Given the description of an element on the screen output the (x, y) to click on. 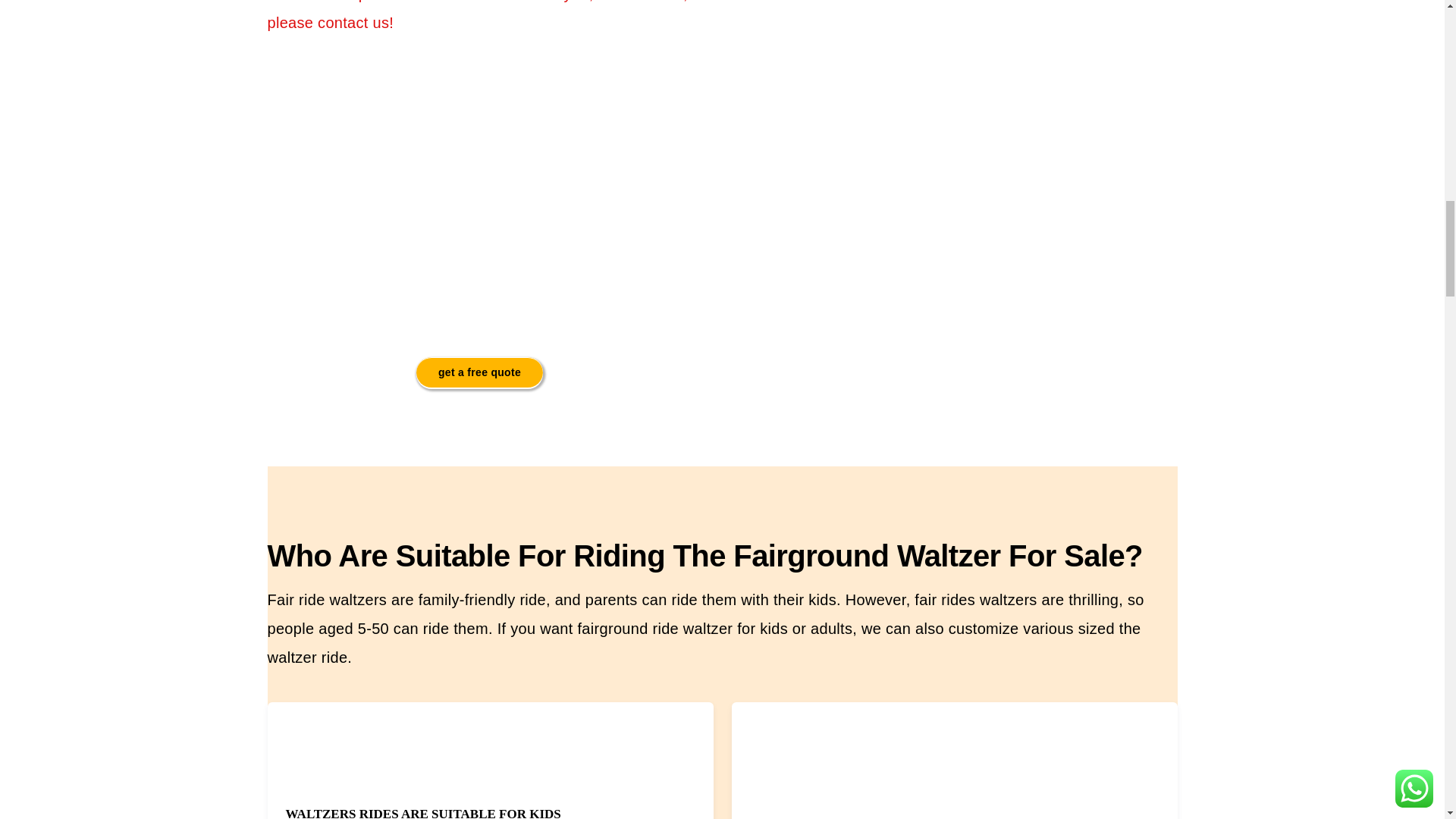
factory price waltzer ride for sale popular in carnival (478, 193)
Parents (798, 752)
three-different-children-together-isolated-260nw-1777906922 (335, 742)
